Given the description of an element on the screen output the (x, y) to click on. 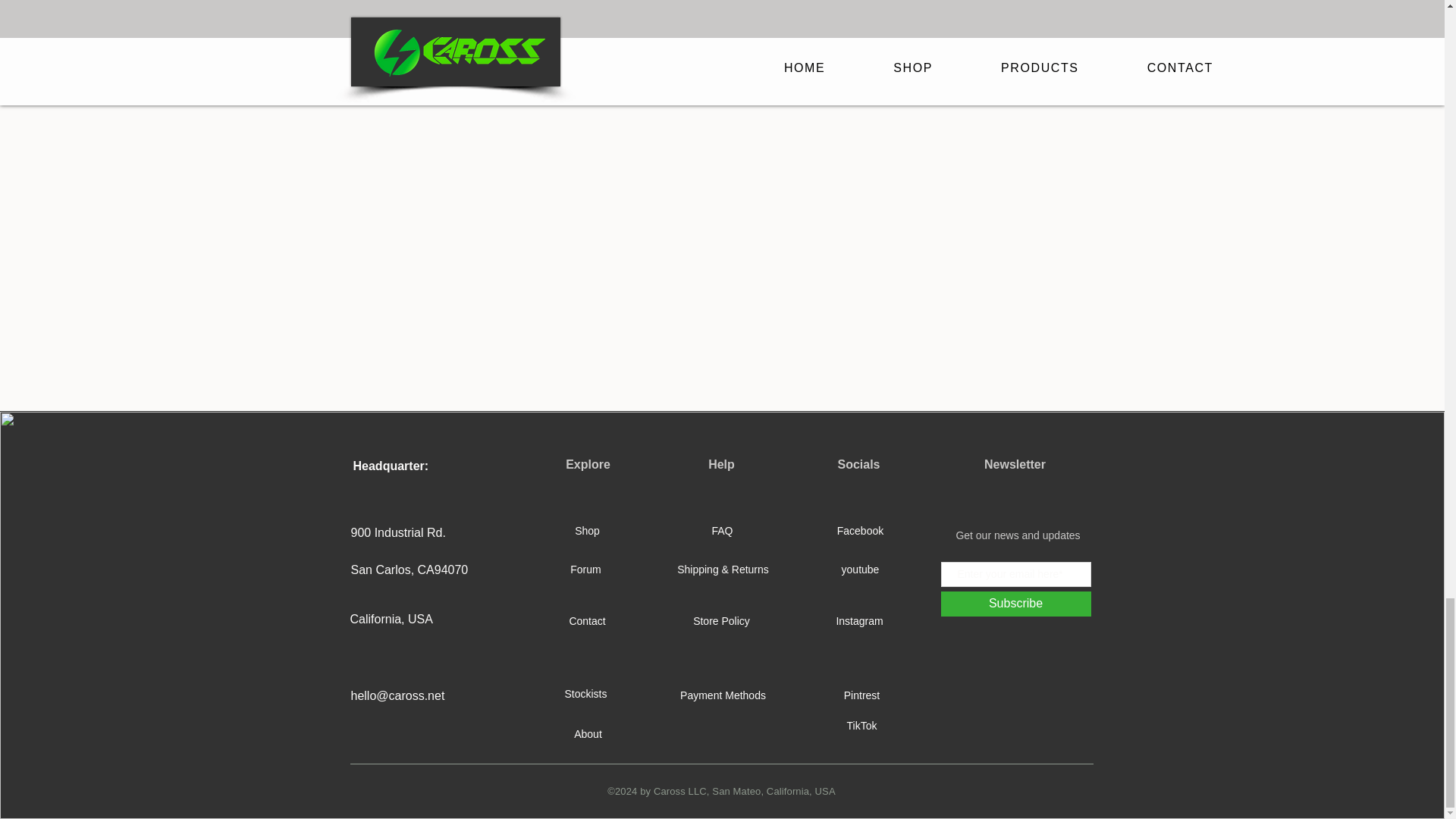
Pintrest (861, 695)
Headquarter: (391, 465)
Stockists (586, 694)
youtube (860, 569)
Contact (588, 621)
Store Policy (720, 621)
TikTok (861, 726)
Shop (588, 531)
Subscribe (1015, 603)
Facebook (860, 531)
